Given the description of an element on the screen output the (x, y) to click on. 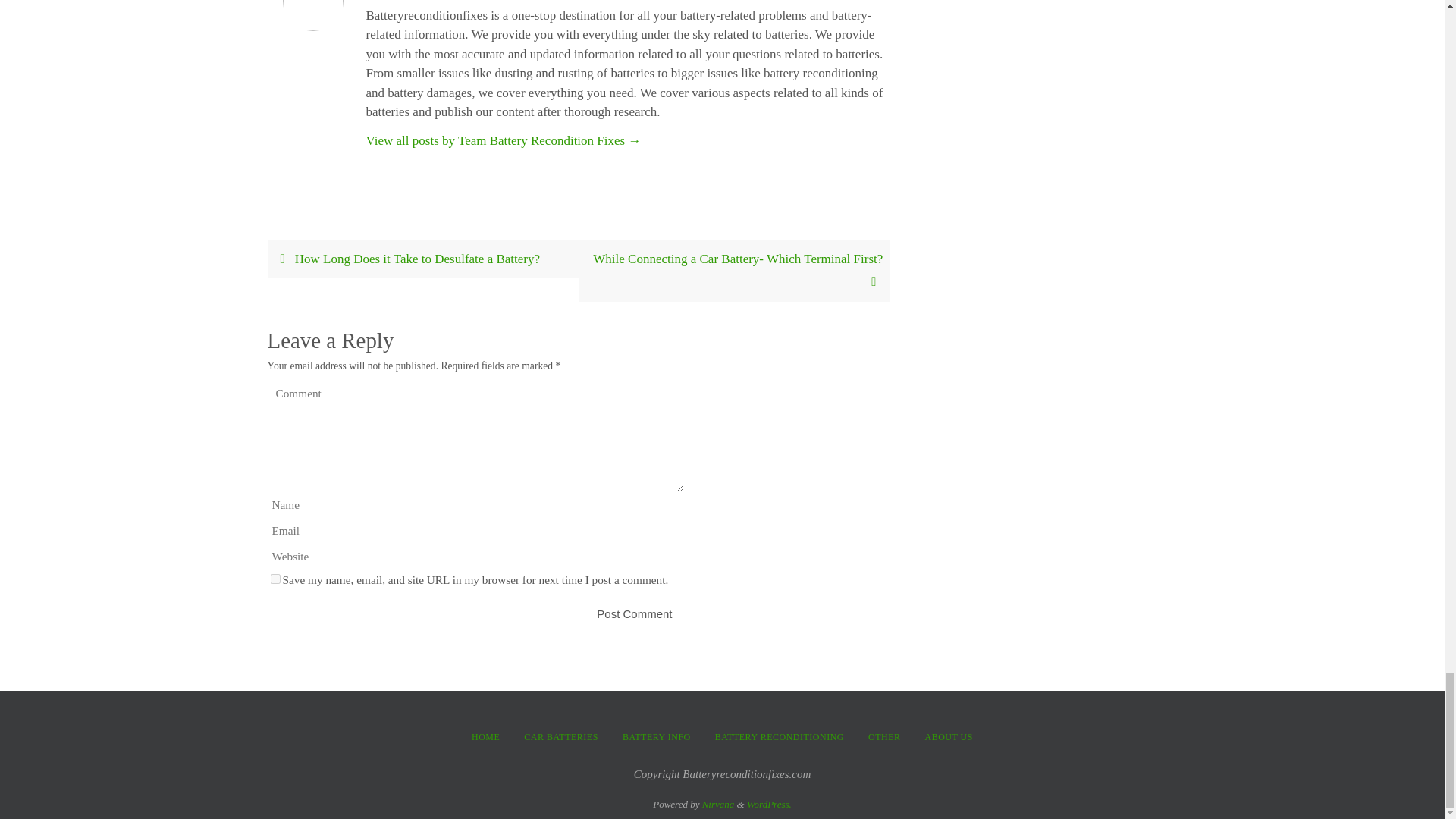
BATTERY RECONDITIONING (779, 737)
How Long Does it Take to Desulfate a Battery? (422, 259)
yes (274, 578)
While Connecting a Car Battery- Which Terminal First? (733, 271)
Post Comment (634, 613)
OTHER (884, 737)
HOME (485, 737)
Nirvana Theme by Cryout Creations (718, 803)
BATTERY INFO (656, 737)
CAR BATTERIES (560, 737)
Post Comment (634, 613)
Semantic Personal Publishing Platform (769, 803)
